Given the description of an element on the screen output the (x, y) to click on. 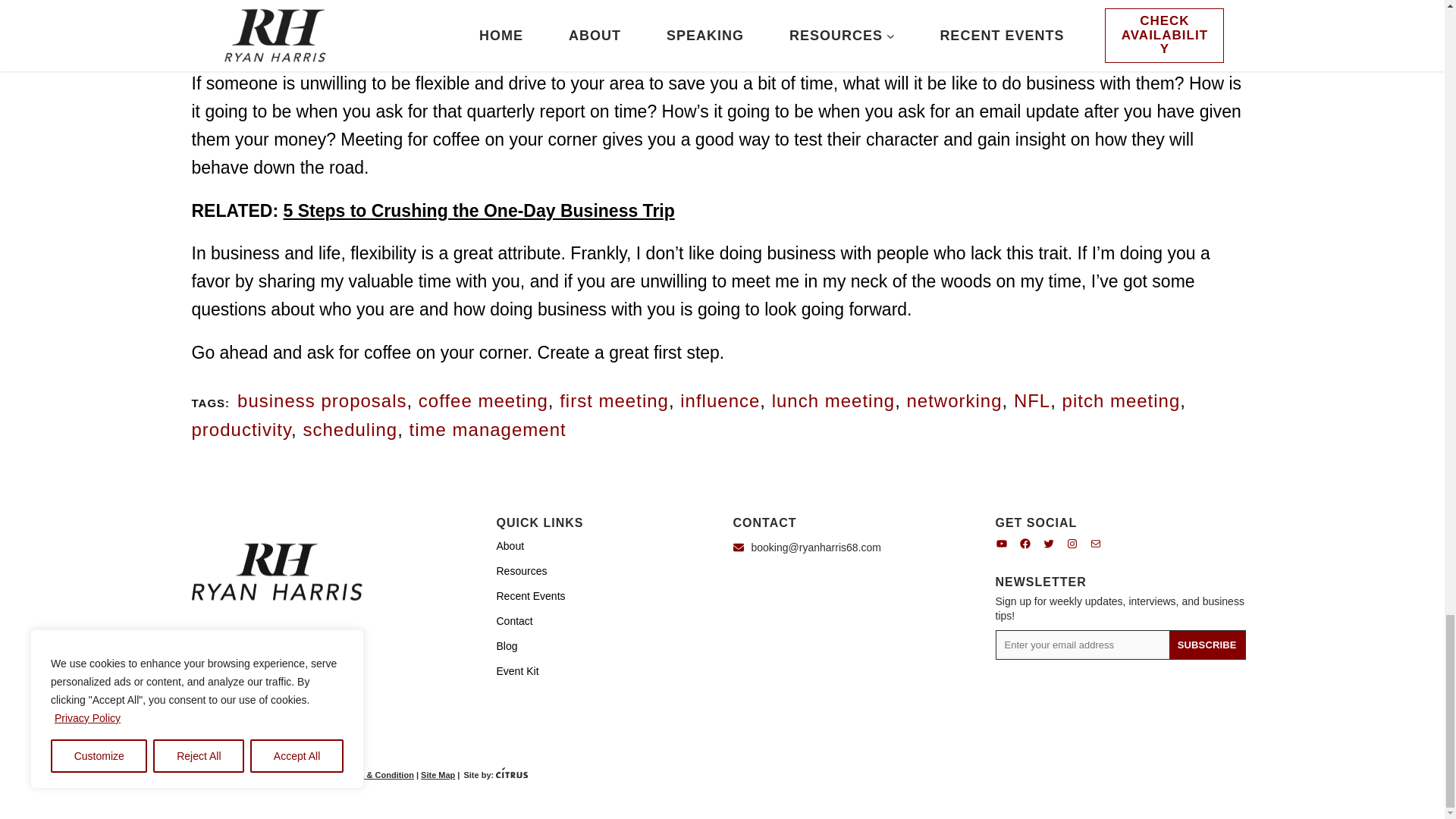
Subscribe (1206, 644)
